Given the description of an element on the screen output the (x, y) to click on. 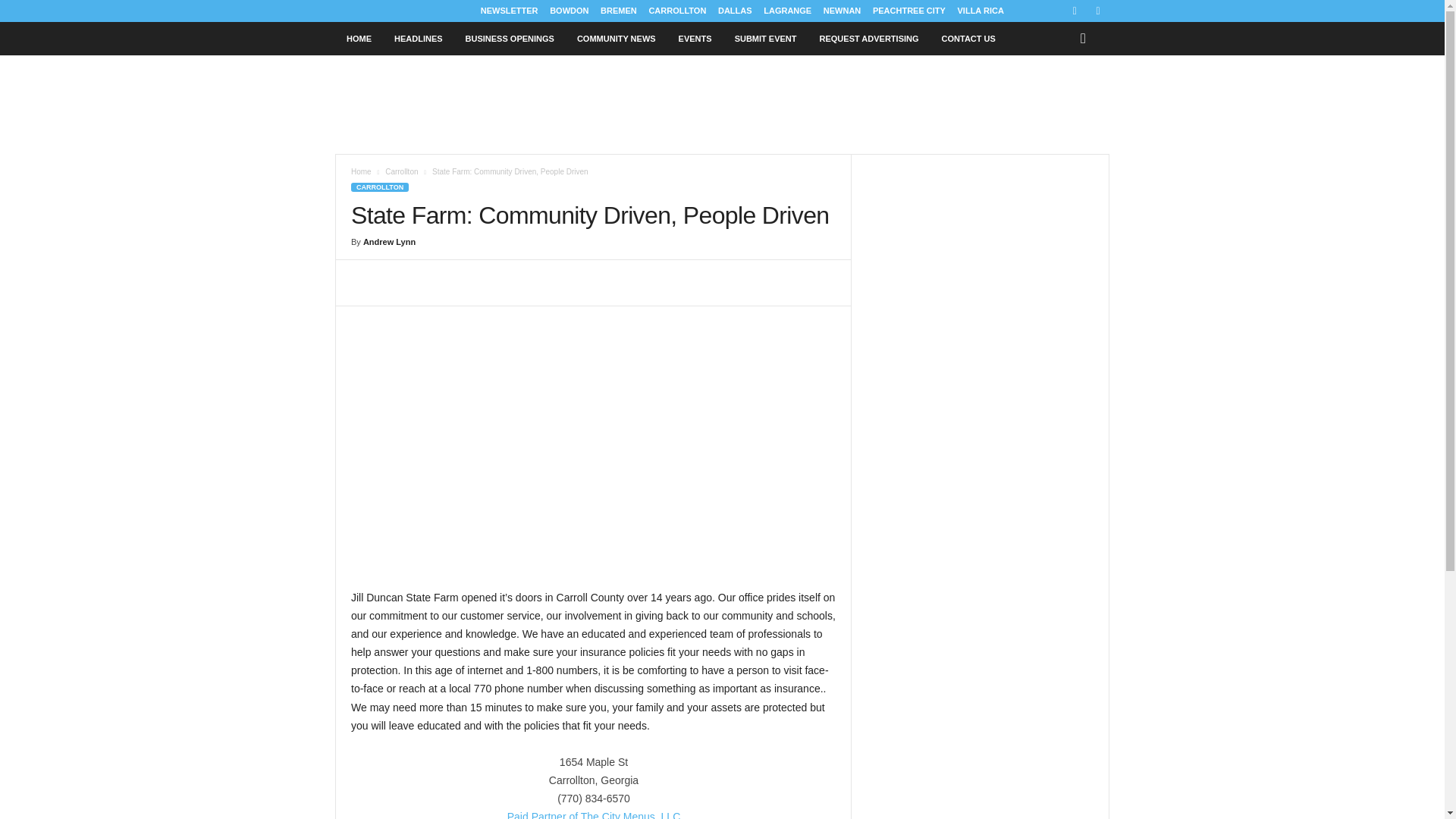
COMMUNITY NEWS (616, 38)
View all posts in Carrollton (401, 171)
BOWDON (569, 10)
PEACHTREE CITY (908, 10)
HOME (358, 38)
Carrollton (401, 171)
Home (360, 171)
CONTACT US (968, 38)
REQUEST ADVERTISING (869, 38)
DALLAS (734, 10)
